Given the description of an element on the screen output the (x, y) to click on. 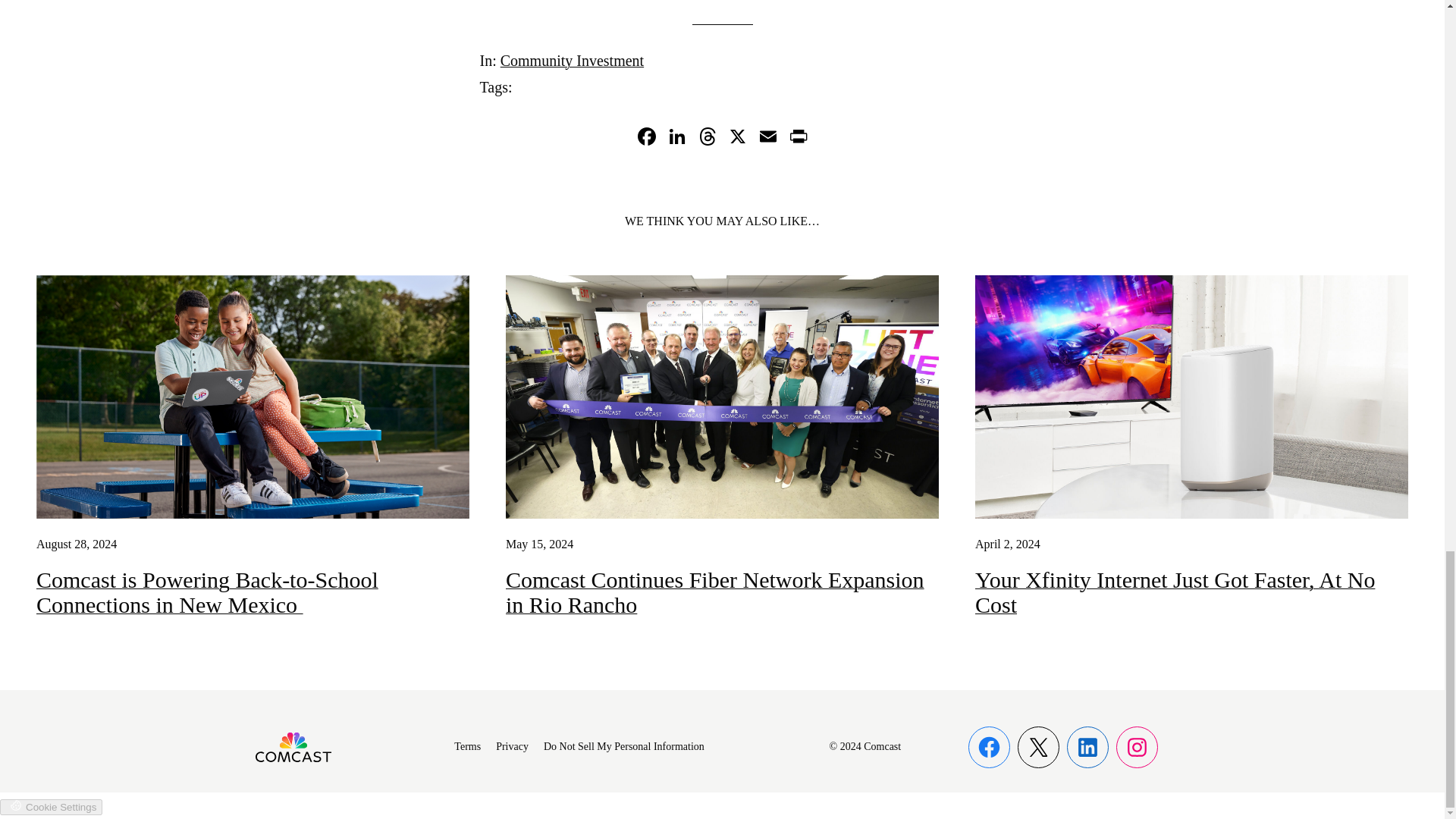
Comcast Continues Fiber Network Expansion in Rio Rancho (722, 592)
Email (767, 138)
Do Not Sell My Personal Information (623, 746)
Facebook (645, 138)
X (737, 138)
Terms (467, 746)
PrintFriendly (797, 138)
X (737, 138)
Your Xfinity Internet Just Got Faster, At No Cost (1191, 592)
LinkedIn (676, 138)
